Given the description of an element on the screen output the (x, y) to click on. 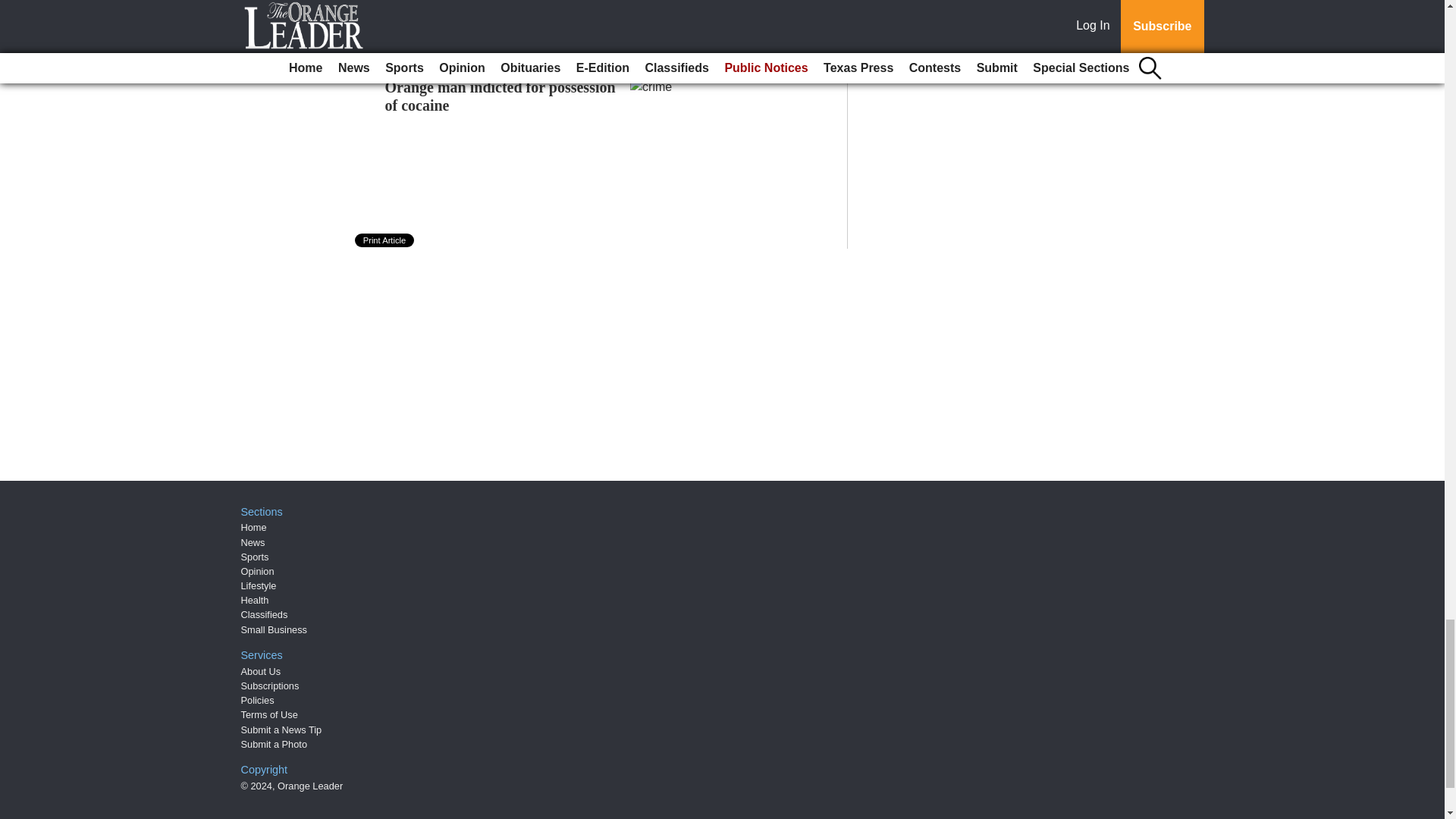
Opinion (258, 571)
Orange man indicted for possession of cocaine (500, 95)
Print Article (384, 240)
Orange man indicted for possession of cocaine (500, 95)
Home (253, 527)
News (252, 542)
Sports (255, 556)
